Given the description of an element on the screen output the (x, y) to click on. 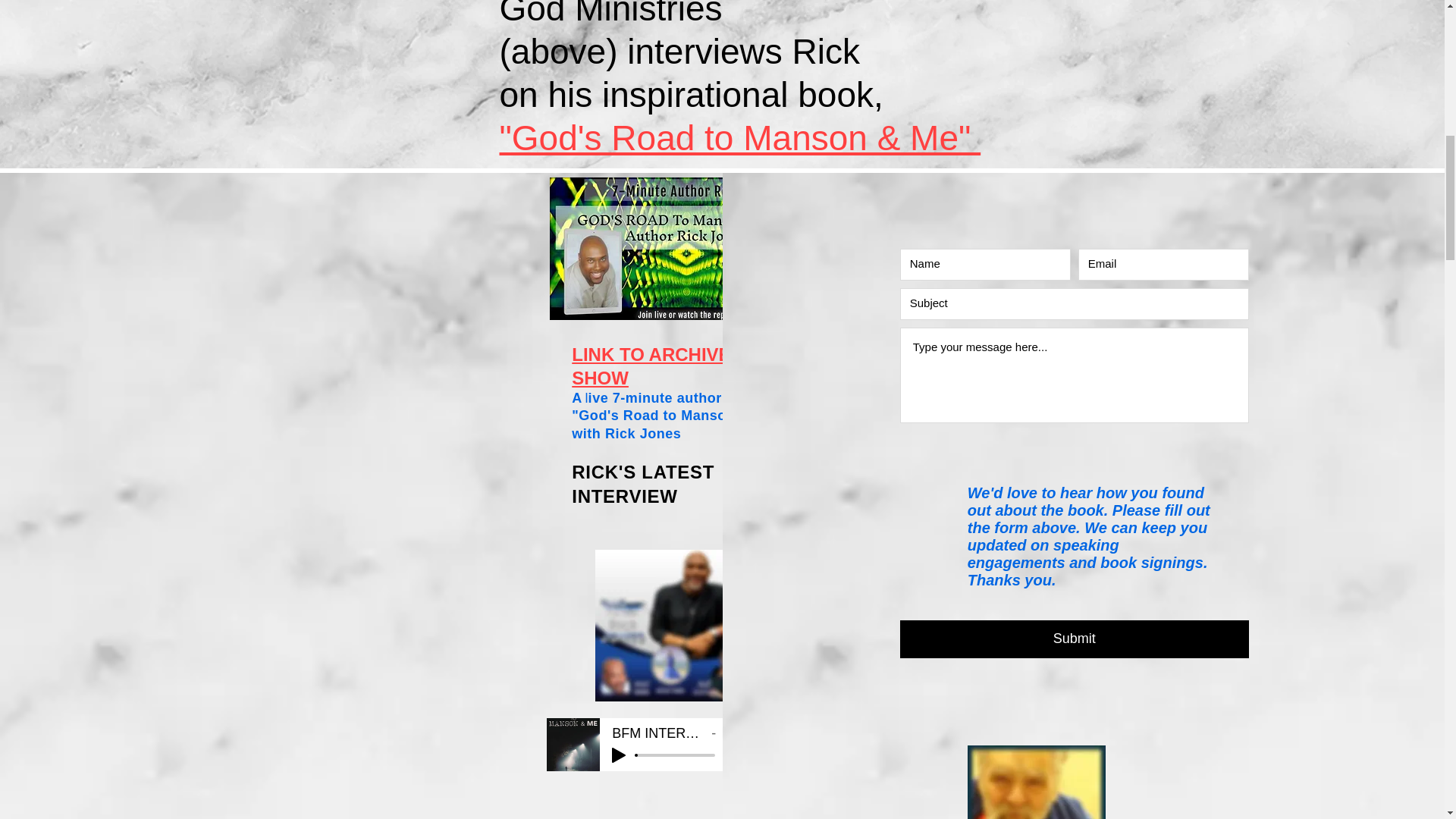
LINK TO ARCHIVED SHOW (658, 365)
0 (675, 754)
Submit (1074, 638)
